Given the description of an element on the screen output the (x, y) to click on. 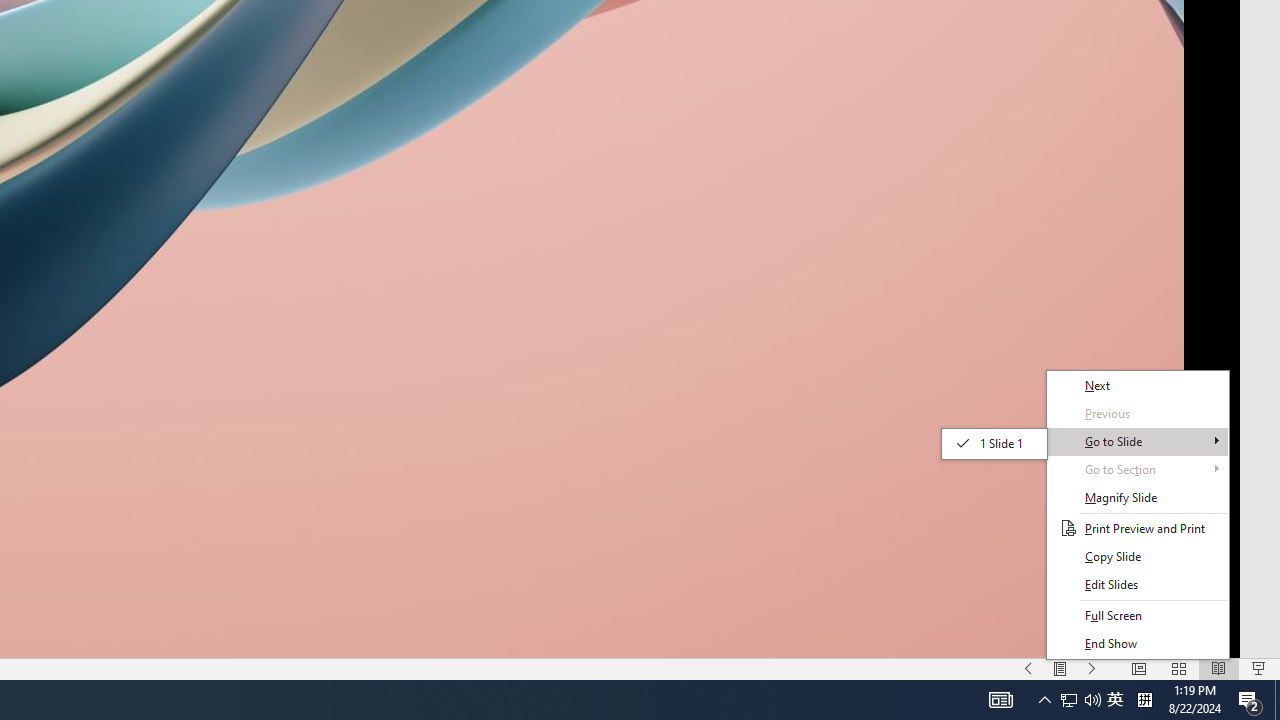
Previous (1137, 413)
Go to Section (1137, 469)
Slide Show Previous On (1028, 668)
Show desktop (1277, 699)
Class: NetUITWMenuContainer (1137, 515)
Full Screen (1137, 615)
Next (1137, 386)
Go to Slide (994, 443)
Print Preview and Print (1137, 528)
Edit Slides (1137, 584)
Action Center, 2 new notifications (1250, 699)
1 Slide 1 (994, 443)
Context Menu (1137, 515)
Go to Slide (1137, 441)
Tray Input Indicator - Chinese (Simplified, China) (1144, 699)
